Given the description of an element on the screen output the (x, y) to click on. 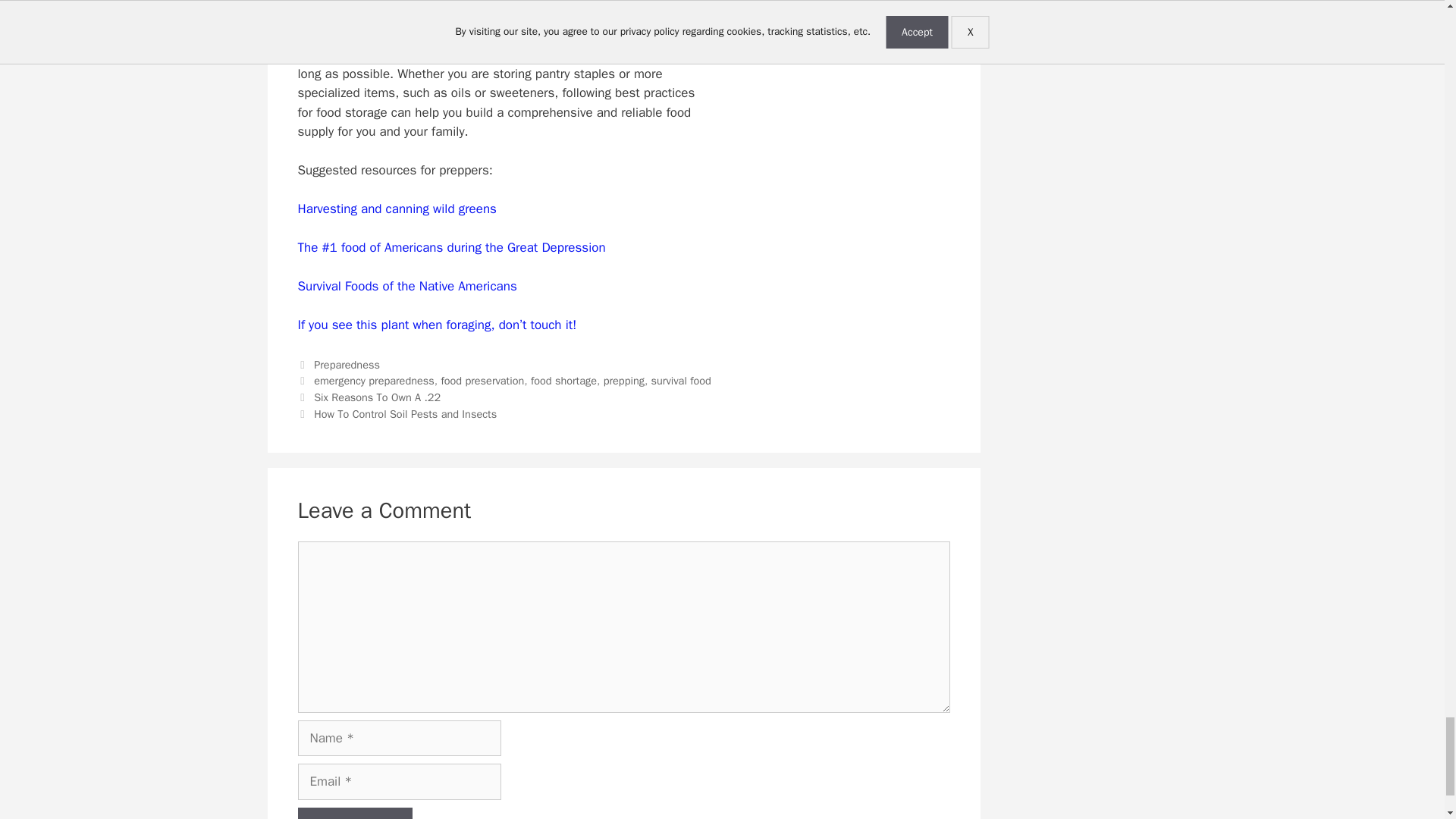
Survival Foods of the Native Americans (406, 286)
emergency preparedness (373, 380)
Preparedness (347, 364)
Post Comment (354, 813)
Harvesting and canning wild greens (396, 208)
